Given the description of an element on the screen output the (x, y) to click on. 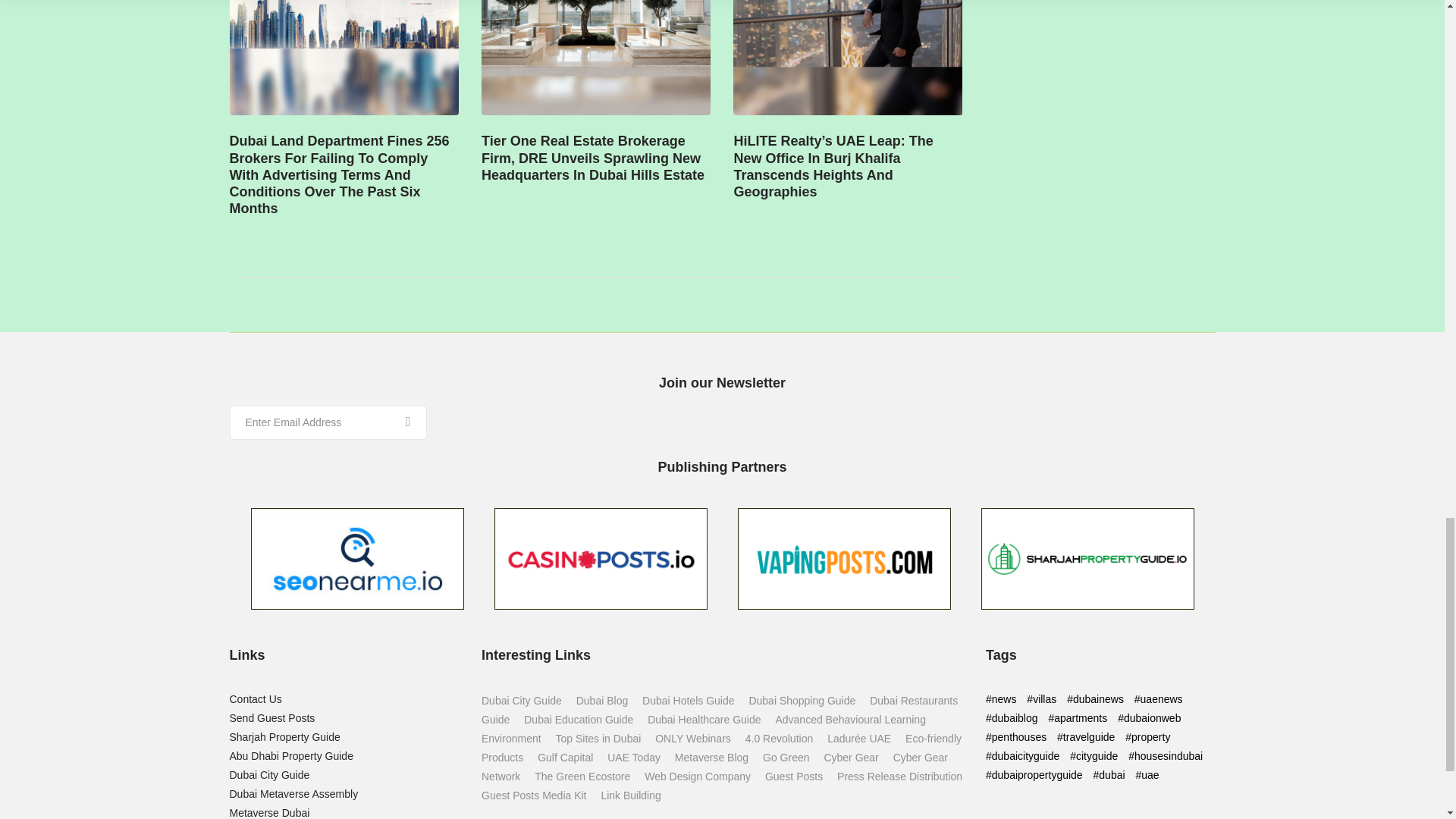
Dubai Metaverse Assembly (293, 793)
Contact Us (254, 698)
Dubai City Guide (268, 775)
Sharjah Property Guide (283, 736)
Abu Dhabi Property Guide (290, 756)
Send Guest Posts (271, 717)
Metaverse Dubai (268, 812)
